Given the description of an element on the screen output the (x, y) to click on. 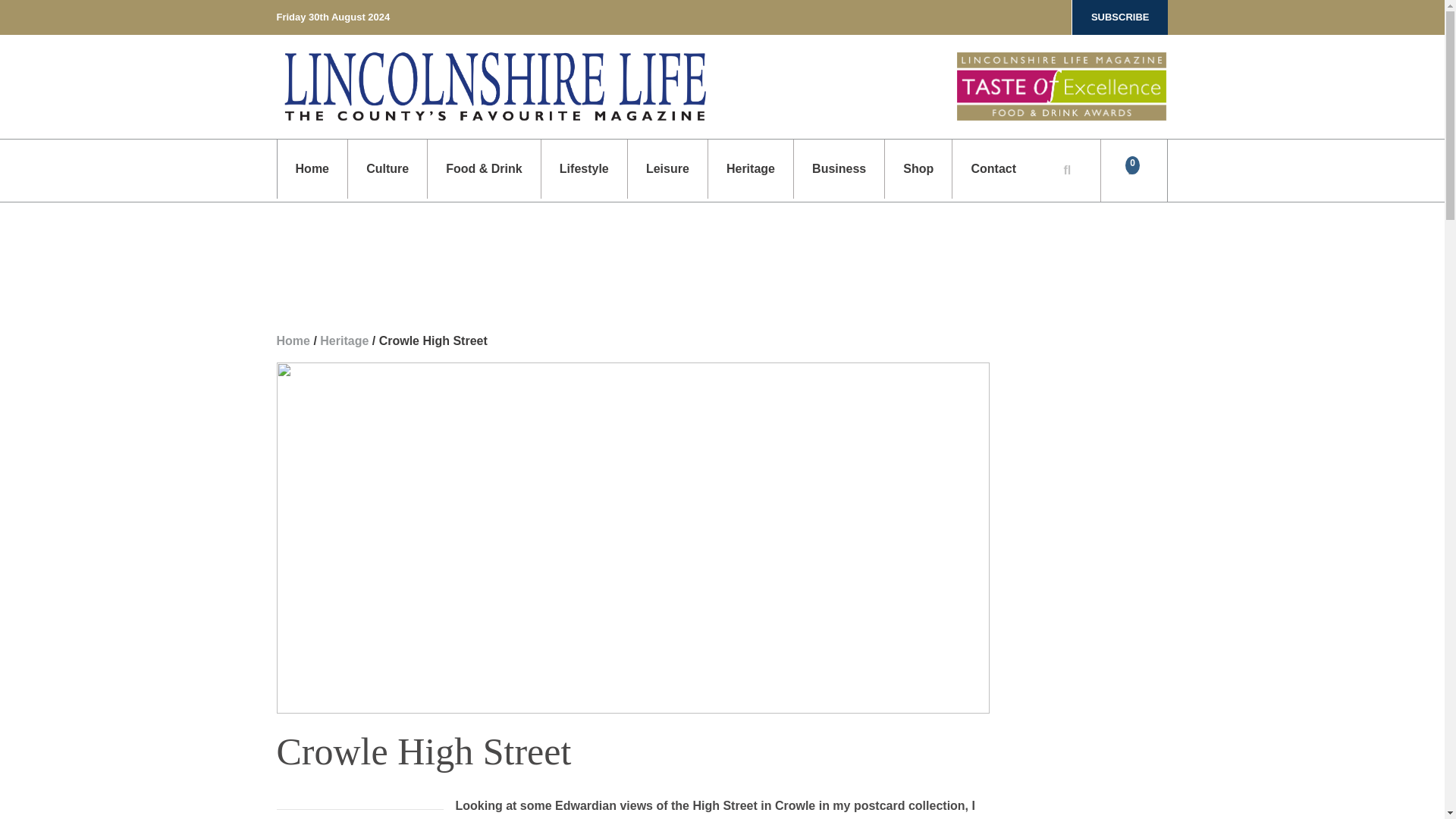
Contact (992, 169)
Lincolnshire Life (494, 85)
Home (311, 169)
Leisure (667, 169)
Lifestyle (584, 169)
Shop (917, 169)
Heritage (750, 169)
Culture (386, 169)
Business (838, 169)
SUBSCRIBE (1120, 17)
